Given the description of an element on the screen output the (x, y) to click on. 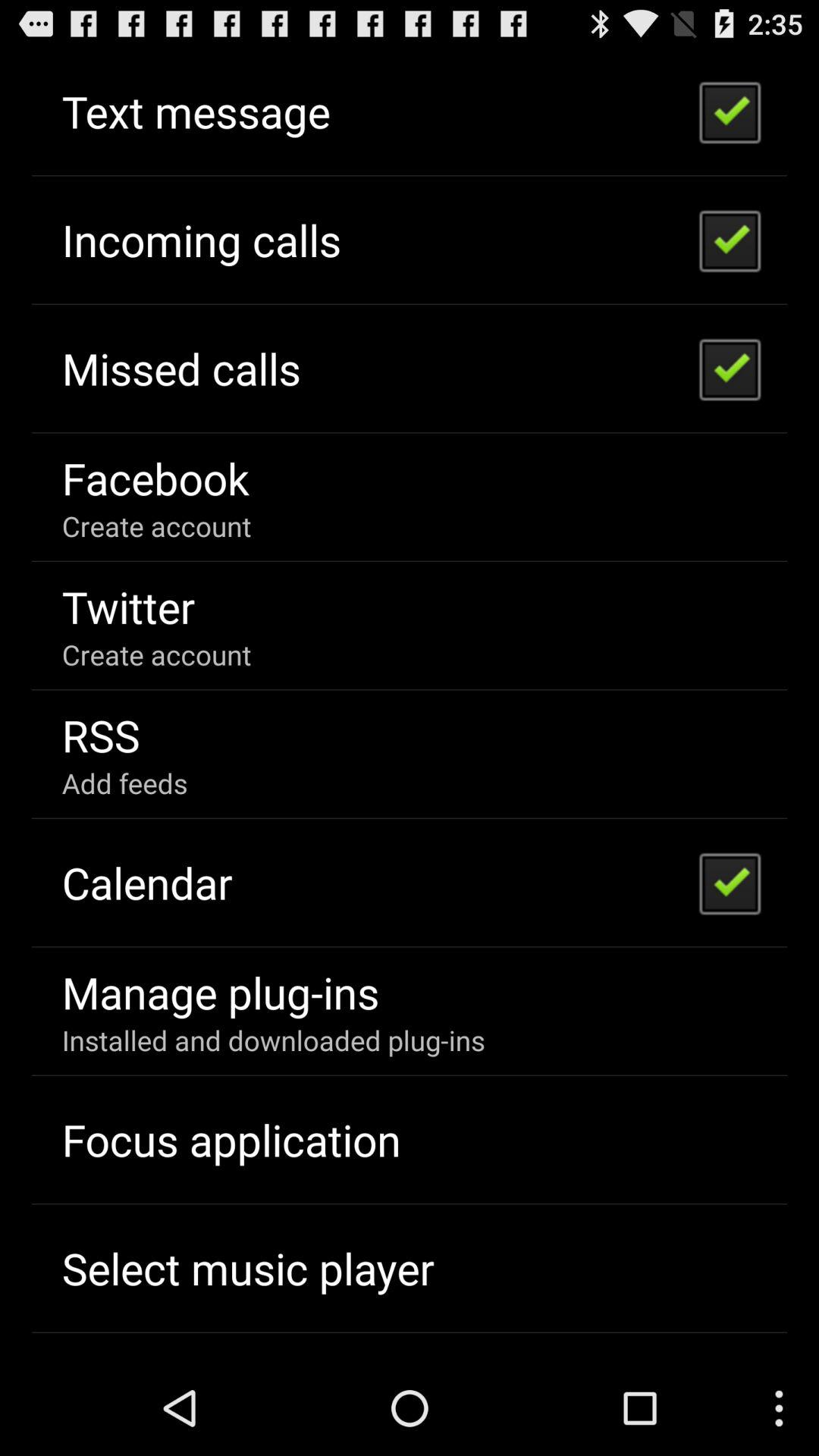
tap item below missed calls app (155, 477)
